Given the description of an element on the screen output the (x, y) to click on. 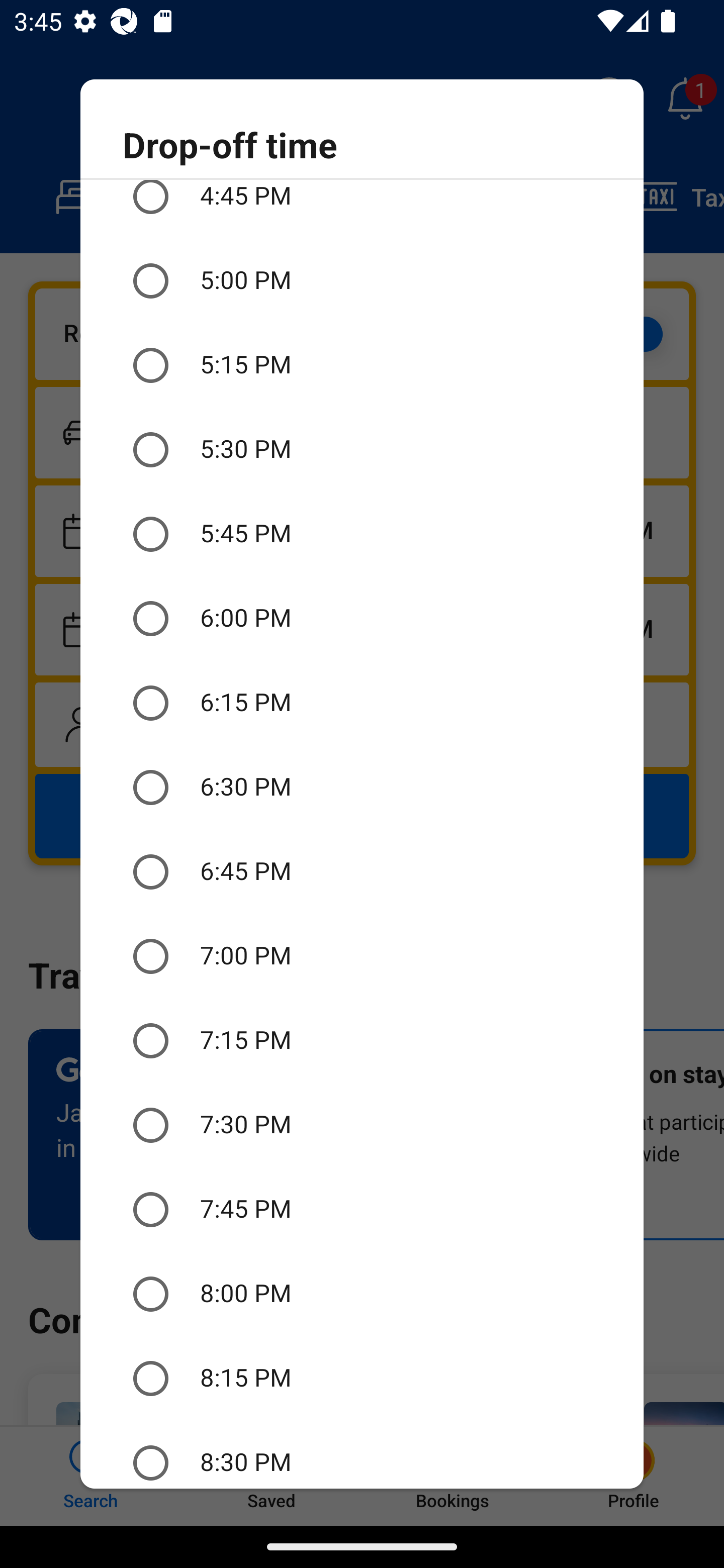
4:45 PM (361, 209)
5:00 PM (361, 280)
5:15 PM (361, 365)
5:30 PM (361, 449)
5:45 PM (361, 534)
6:00 PM (361, 618)
6:15 PM (361, 702)
6:30 PM (361, 786)
6:45 PM (361, 871)
7:00 PM (361, 956)
7:15 PM (361, 1040)
7:30 PM (361, 1125)
7:45 PM (361, 1209)
8:00 PM (361, 1293)
8:15 PM (361, 1377)
8:30 PM (361, 1454)
